Given the description of an element on the screen output the (x, y) to click on. 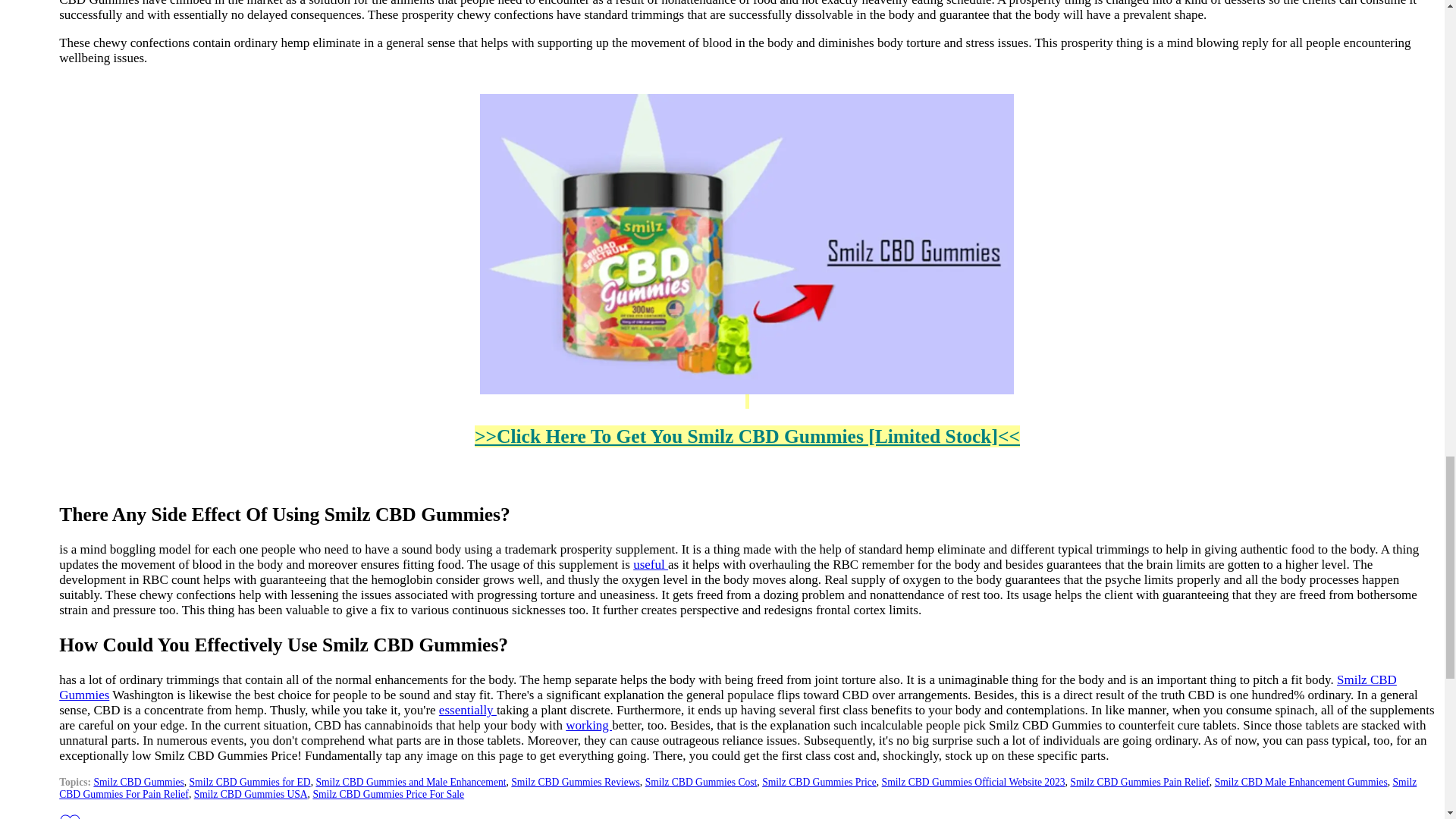
essentially  (467, 709)
useful  (650, 564)
Smilz CBD Gummies (727, 686)
Like (70, 816)
Smilz CBD Gummies Price For Sale (388, 794)
Smilz CBD Gummies (138, 781)
Like (70, 815)
Smilz CBD Gummies and Male Enhancement (410, 781)
Smilz CBD Gummies USA (250, 794)
Smilz CBD Gummies Price (818, 781)
